Given the description of an element on the screen output the (x, y) to click on. 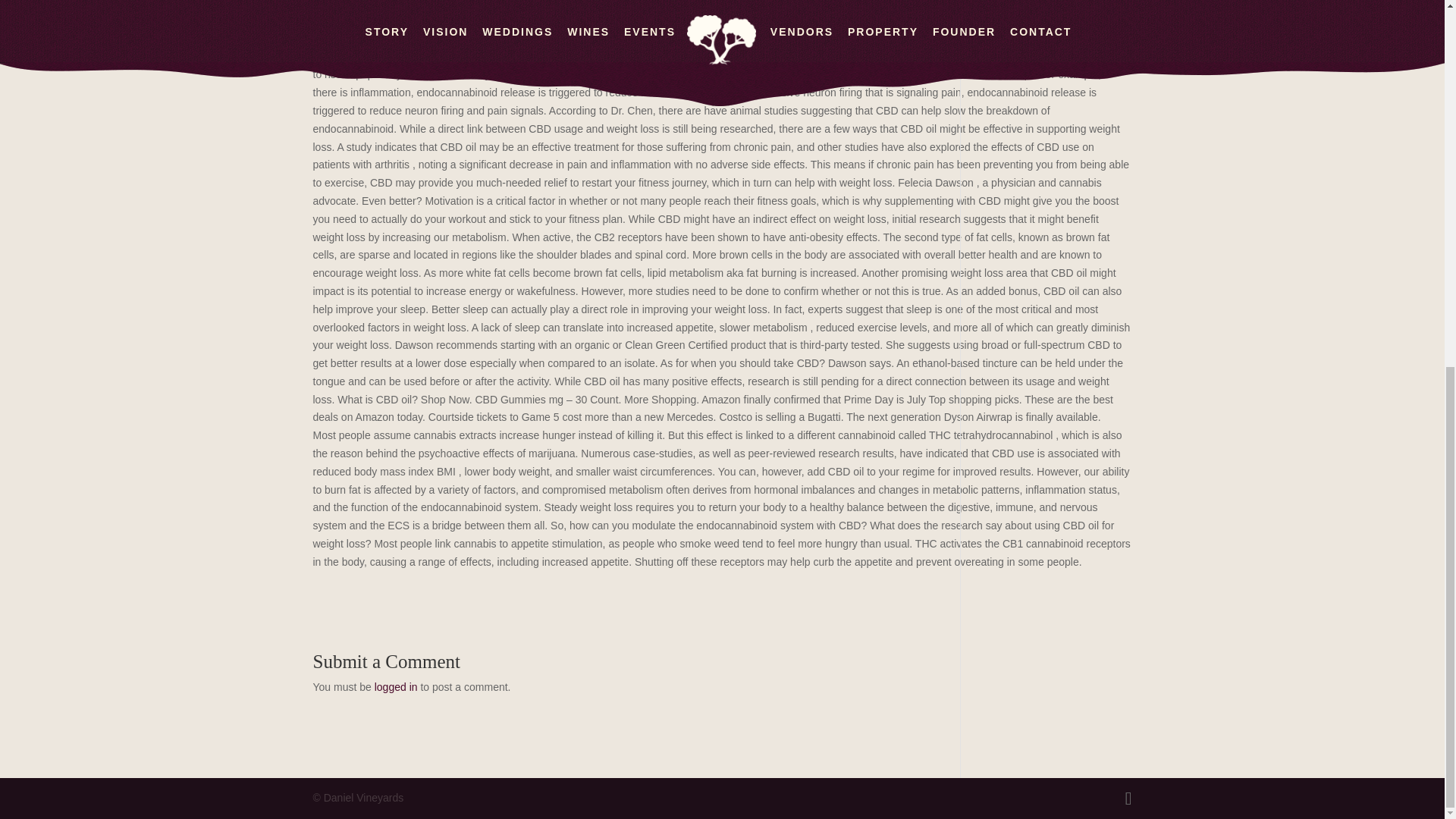
logged in (395, 686)
